Given the description of an element on the screen output the (x, y) to click on. 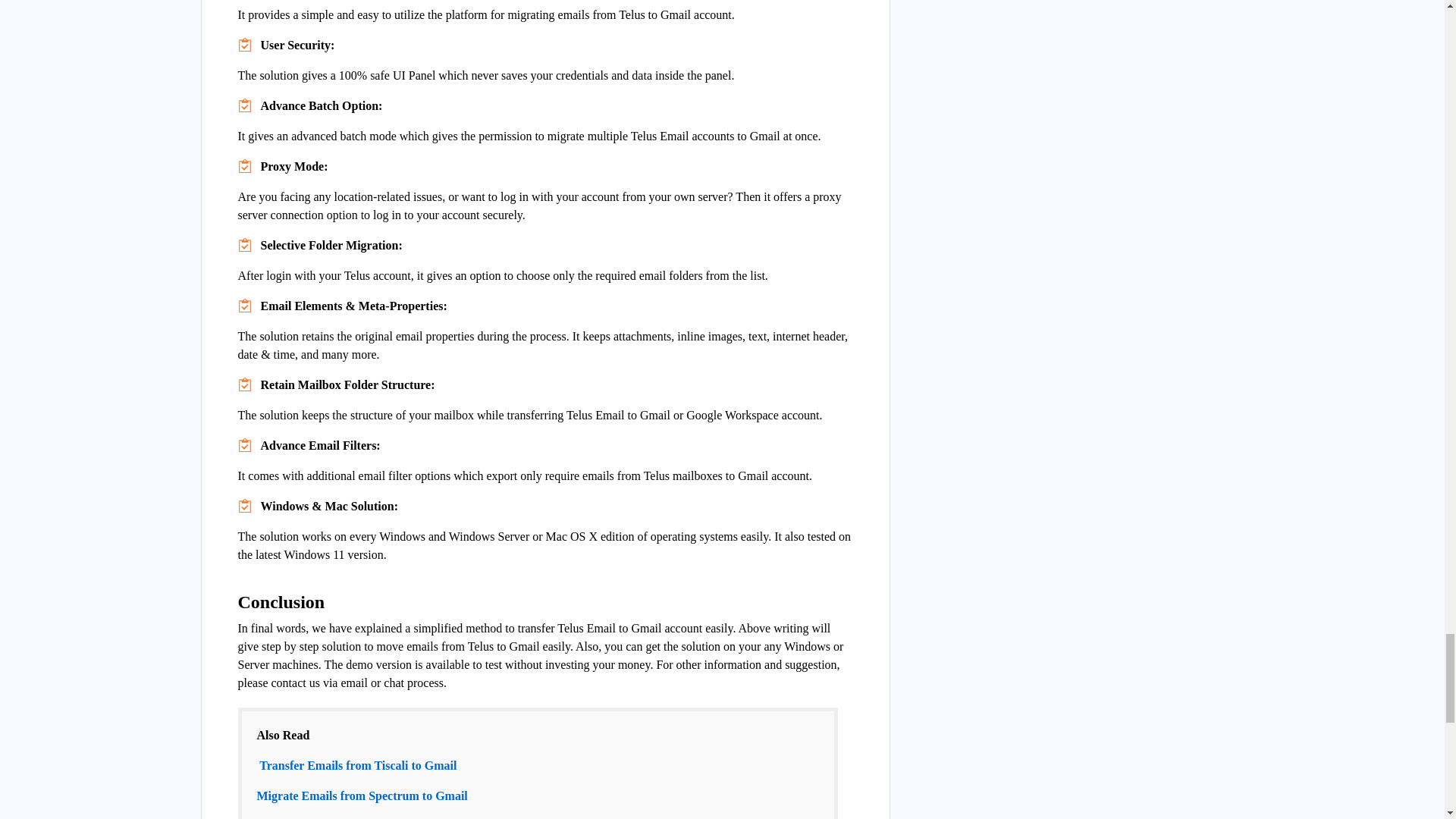
 Transfer Emails from Tiscali to Gmail (356, 765)
Migrate Emails from Spectrum to Gmail (361, 795)
